Given the description of an element on the screen output the (x, y) to click on. 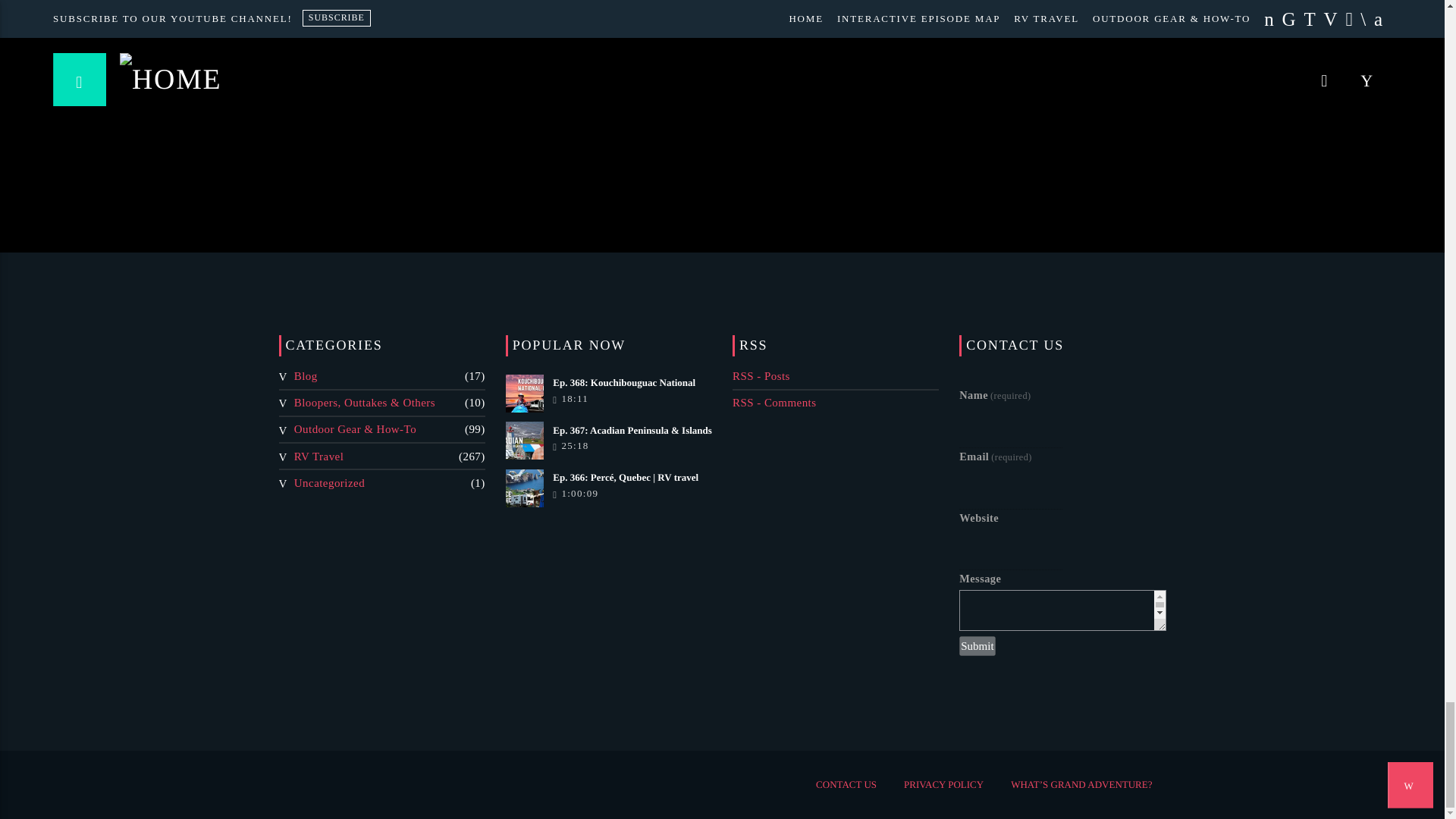
Subscribe to posts (761, 376)
Subscribe to comments (774, 402)
